Given the description of an element on the screen output the (x, y) to click on. 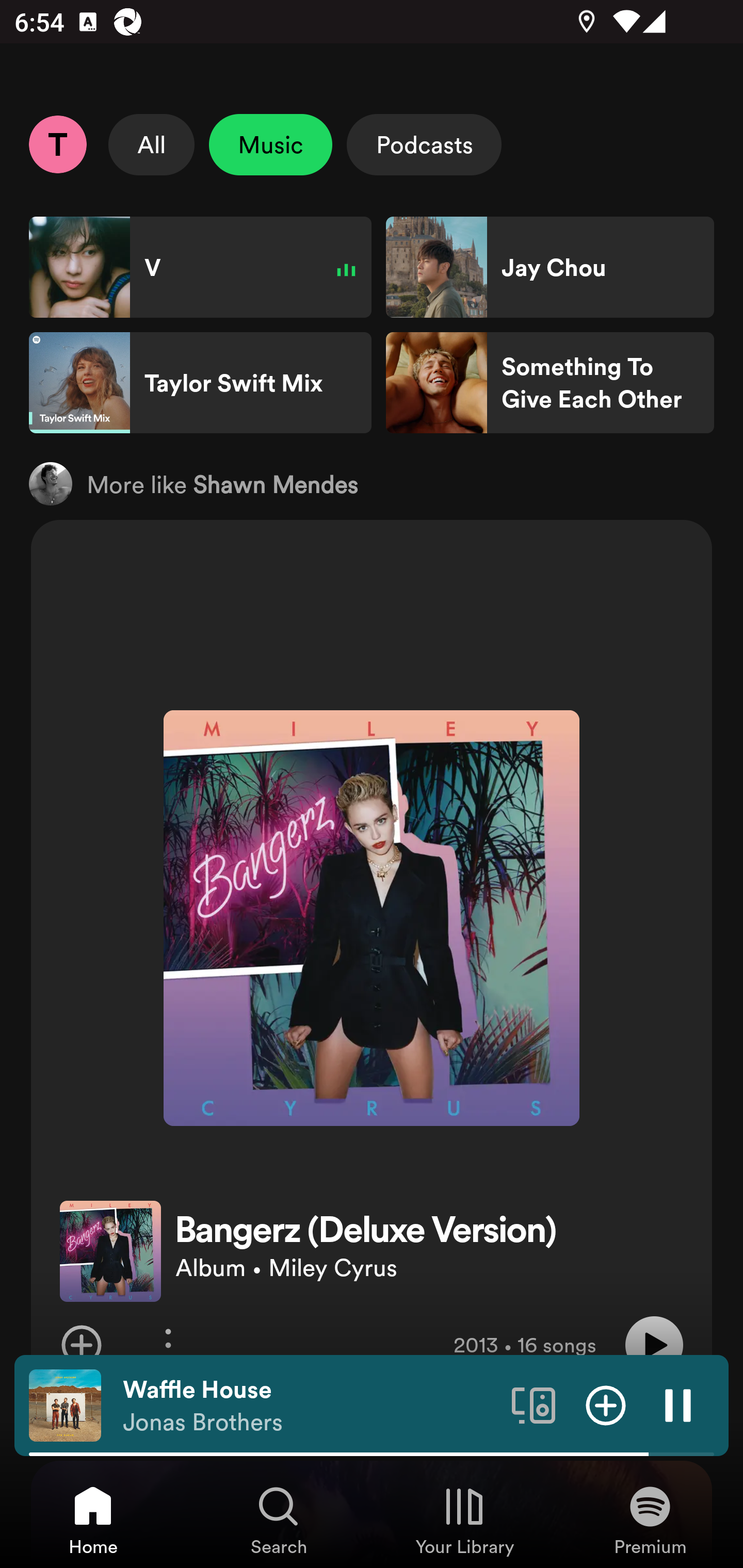
Profile (57, 144)
All Select All (151, 144)
Music Unselect Music (270, 144)
Podcasts Select Podcasts (423, 144)
V Shortcut V Playing (199, 267)
Jay Chou Shortcut Jay Chou (549, 267)
Taylor Swift Mix Shortcut Taylor Swift Mix (199, 382)
More like Shawn Mendes (371, 483)
Add item (80, 1345)
Play (653, 1345)
Waffle House Jonas Brothers (309, 1405)
The cover art of the currently playing track (64, 1404)
Connect to a device. Opens the devices menu (533, 1404)
Add item (605, 1404)
Pause (677, 1404)
Home, Tab 1 of 4 Home Home (92, 1519)
Search, Tab 2 of 4 Search Search (278, 1519)
Your Library, Tab 3 of 4 Your Library Your Library (464, 1519)
Premium, Tab 4 of 4 Premium Premium (650, 1519)
